Given the description of an element on the screen output the (x, y) to click on. 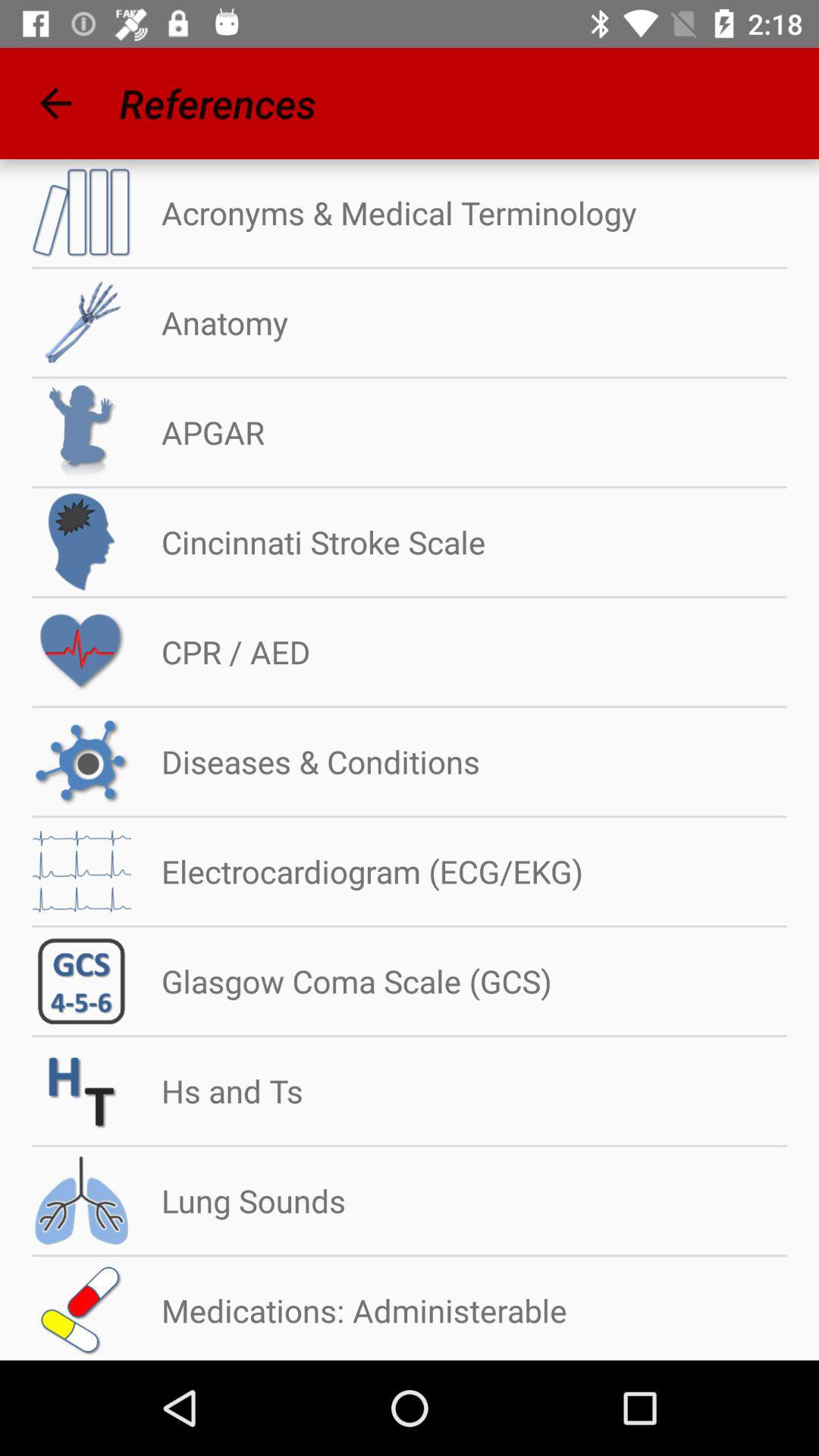
launch icon to the left of the references icon (55, 103)
